Given the description of an element on the screen output the (x, y) to click on. 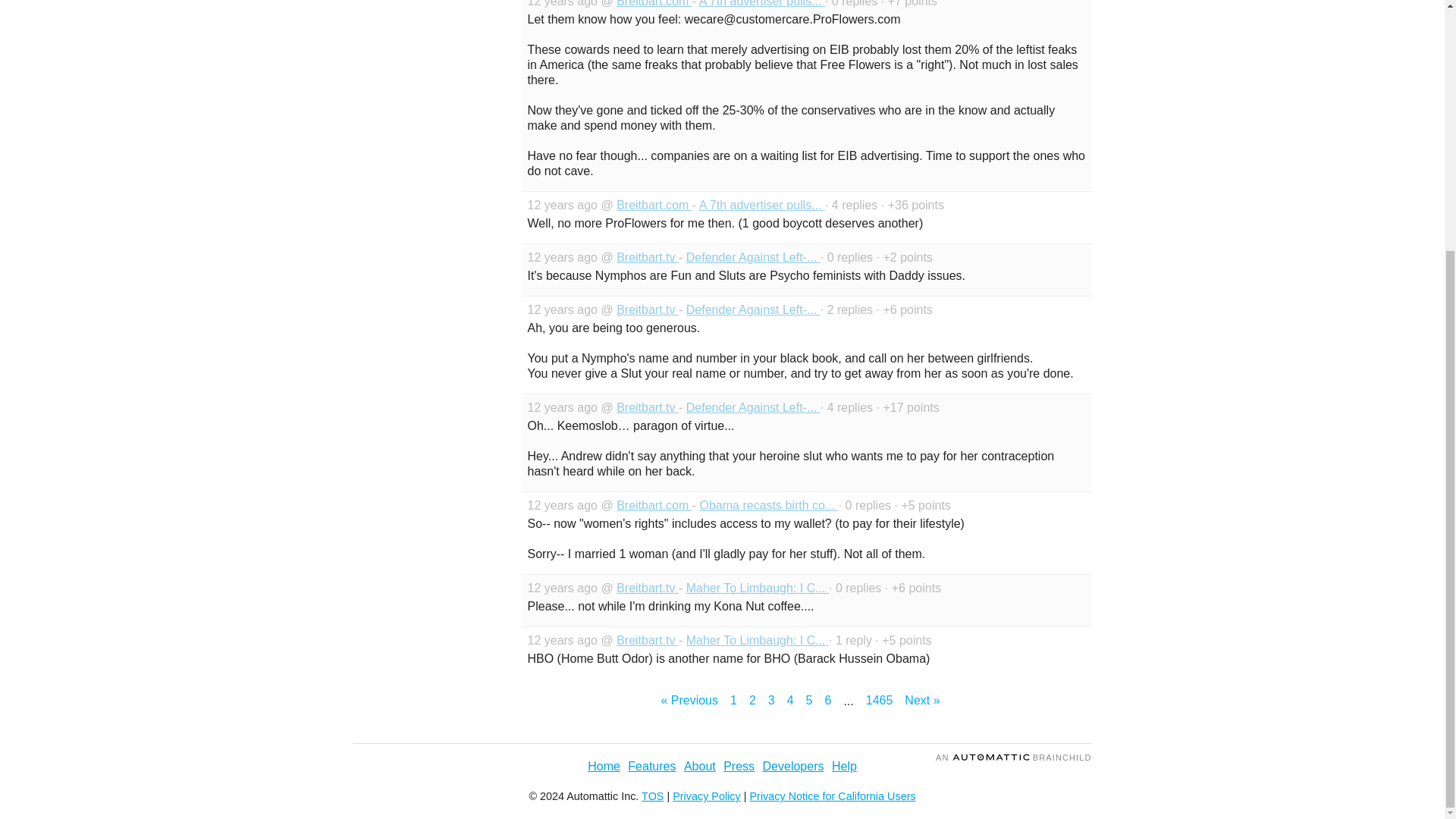
Defender Against Left-... (753, 309)
Breitbart.tv (646, 256)
A 7th advertiser pulls... (761, 205)
Breitbart.com (654, 504)
Breitbart.tv (646, 309)
Maher To Limbaugh: I C... (756, 587)
Defender Against Left-... (753, 407)
Defender Against Left-... (753, 256)
Maher To Limbaugh: I C... (756, 640)
Breitbart.com (654, 3)
